Given the description of an element on the screen output the (x, y) to click on. 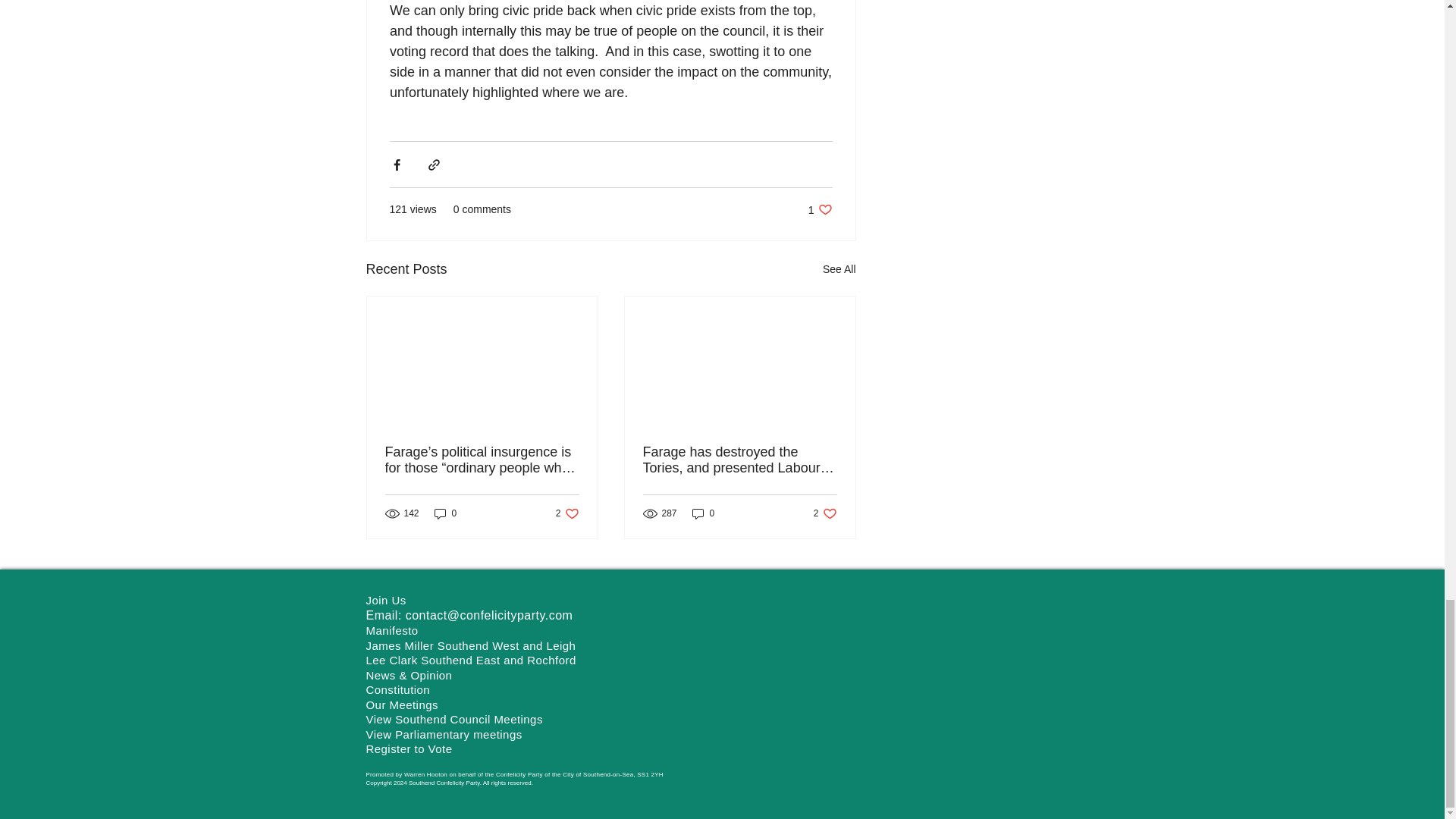
Lee Clark Southend East and Rochford (470, 659)
0 (567, 513)
See All (445, 513)
James Miller Southend West and Leigh (839, 269)
Manifesto (825, 513)
Join Us (470, 645)
